Given the description of an element on the screen output the (x, y) to click on. 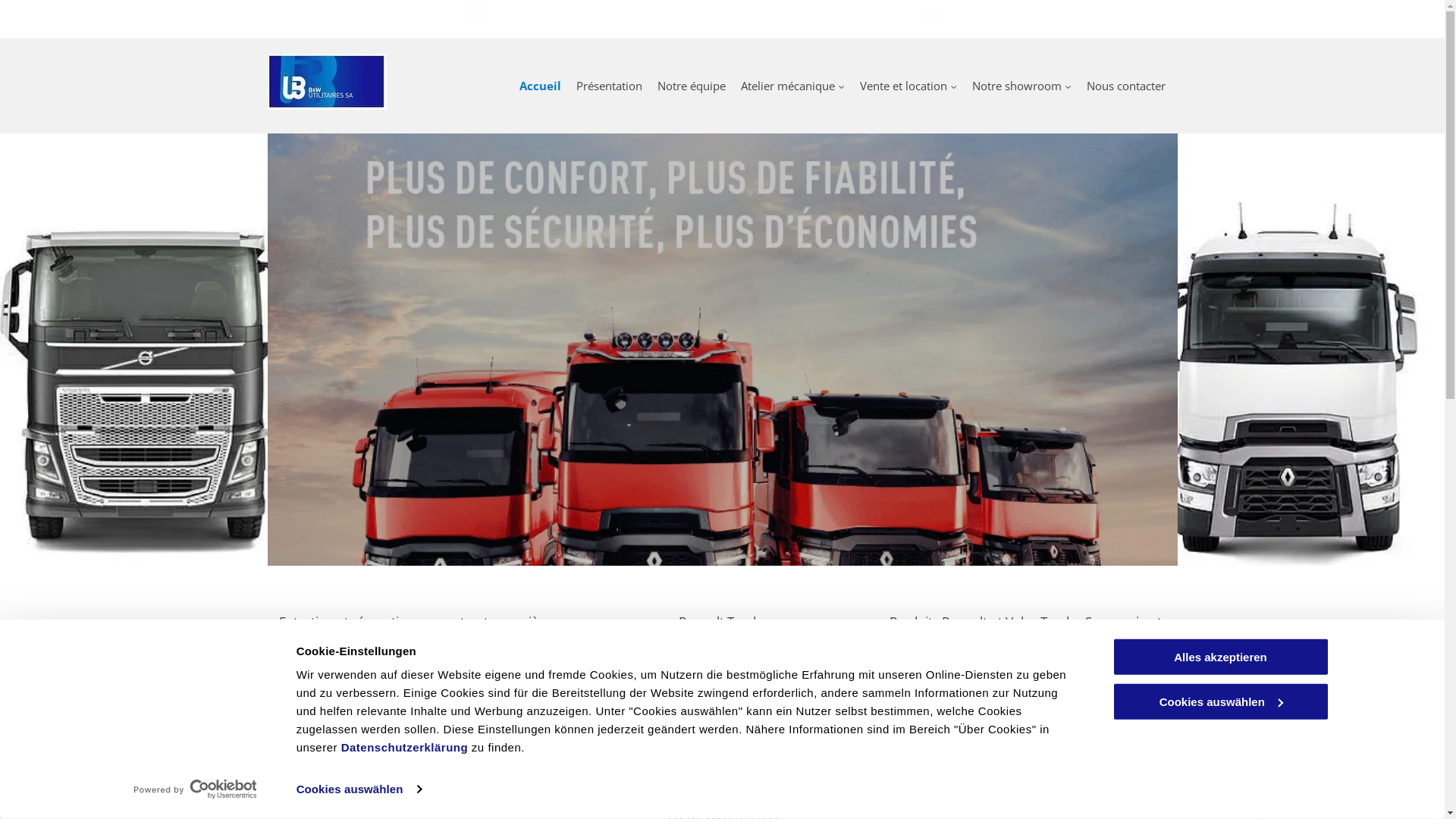
Vente et location Element type: text (908, 85)
Alles akzeptieren Element type: text (1219, 656)
Showroom Element type: text (1025, 698)
Nous contacter Element type: text (1125, 85)
Accueil Element type: text (540, 85)
Notre showroom Element type: text (1021, 85)
Vente et location Element type: text (721, 698)
